Given the description of an element on the screen output the (x, y) to click on. 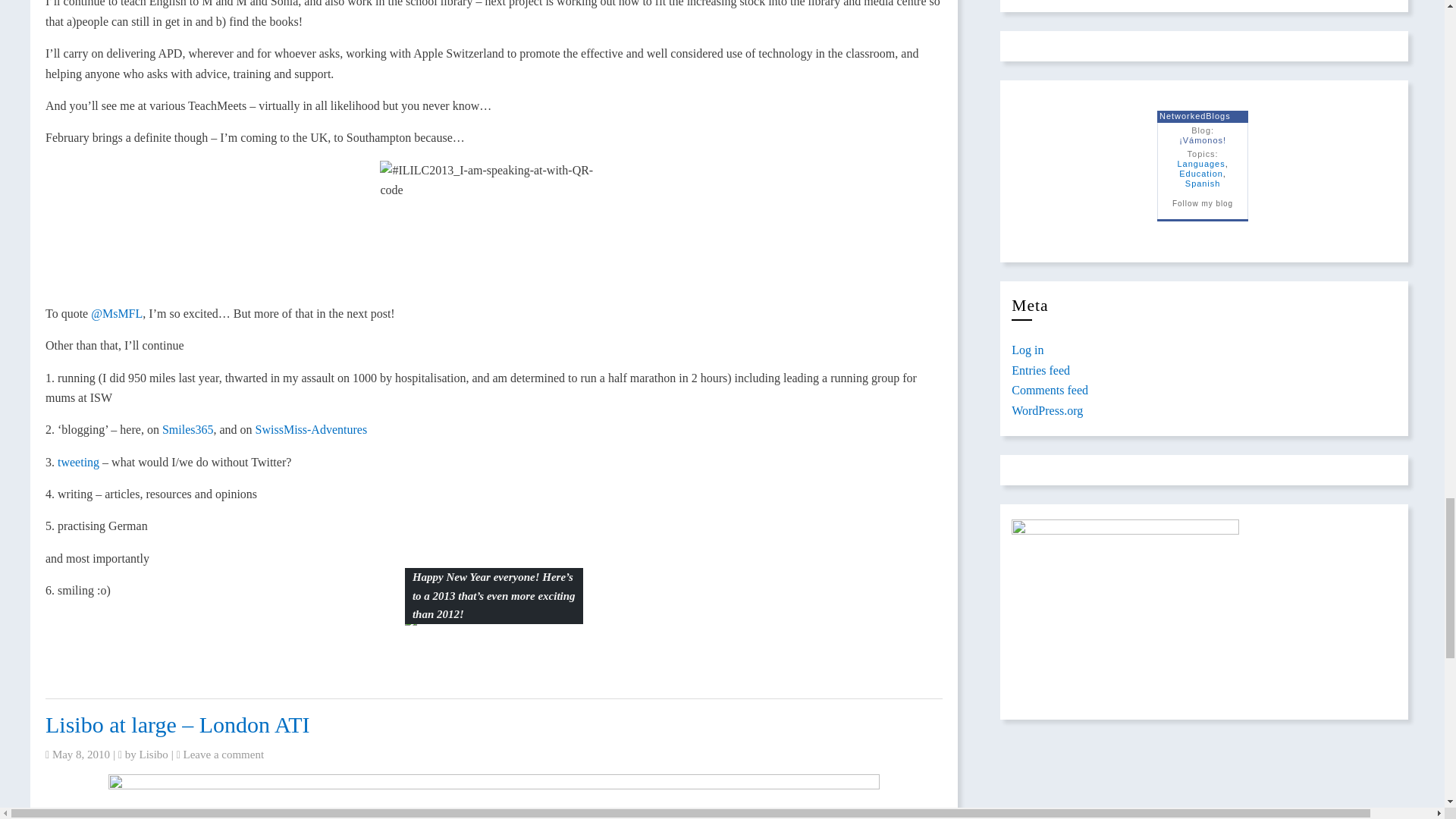
Lisibo (153, 754)
tweeting (78, 461)
Smiles365 (187, 429)
SwissMiss-Adventures (312, 429)
Leave a comment (223, 754)
Screen shot 2010-05-08 at 13.51.21 (493, 796)
